Given the description of an element on the screen output the (x, y) to click on. 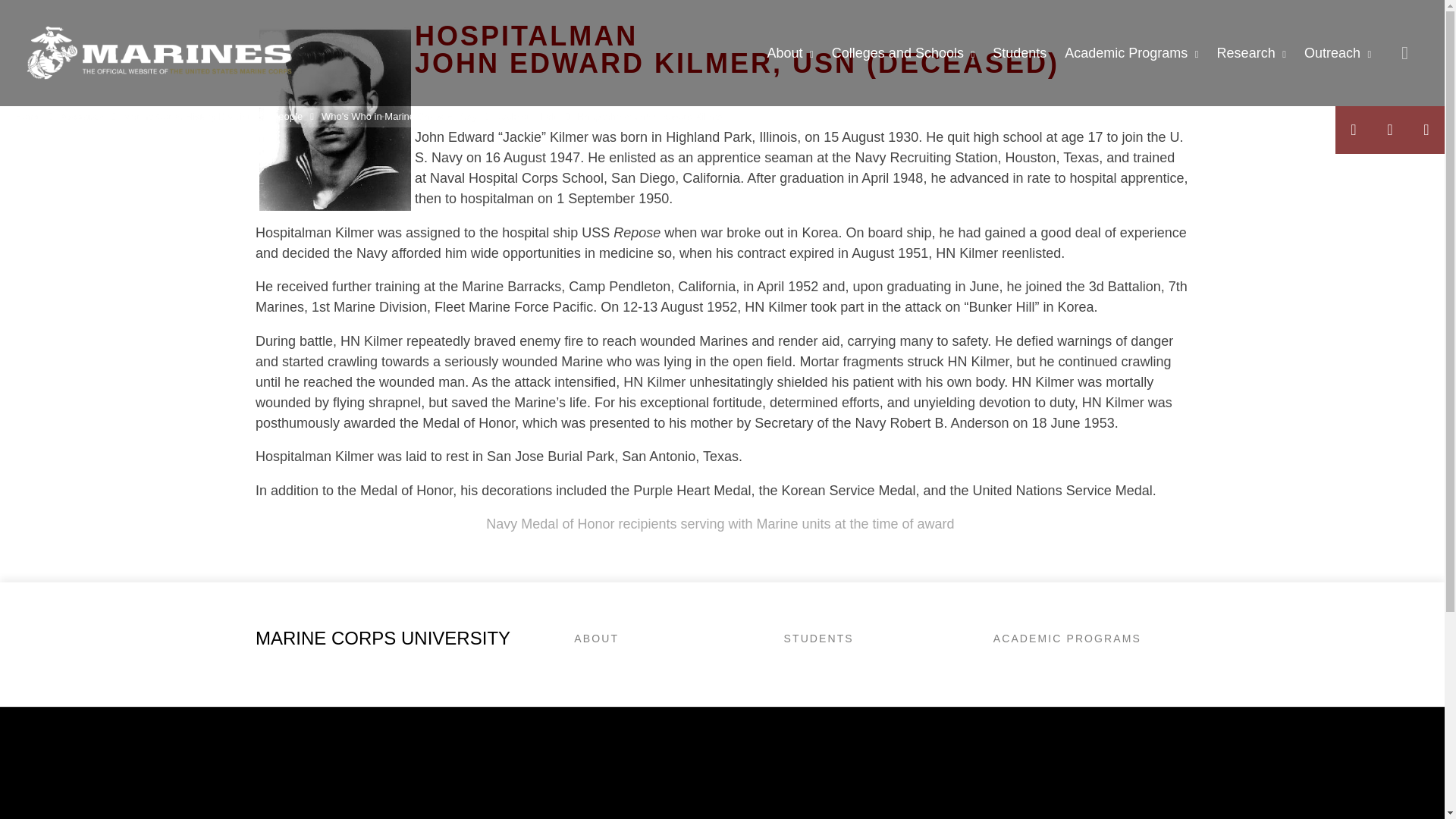
X (1389, 129)
Marine Corps University (159, 53)
Facebook (1353, 130)
